Given the description of an element on the screen output the (x, y) to click on. 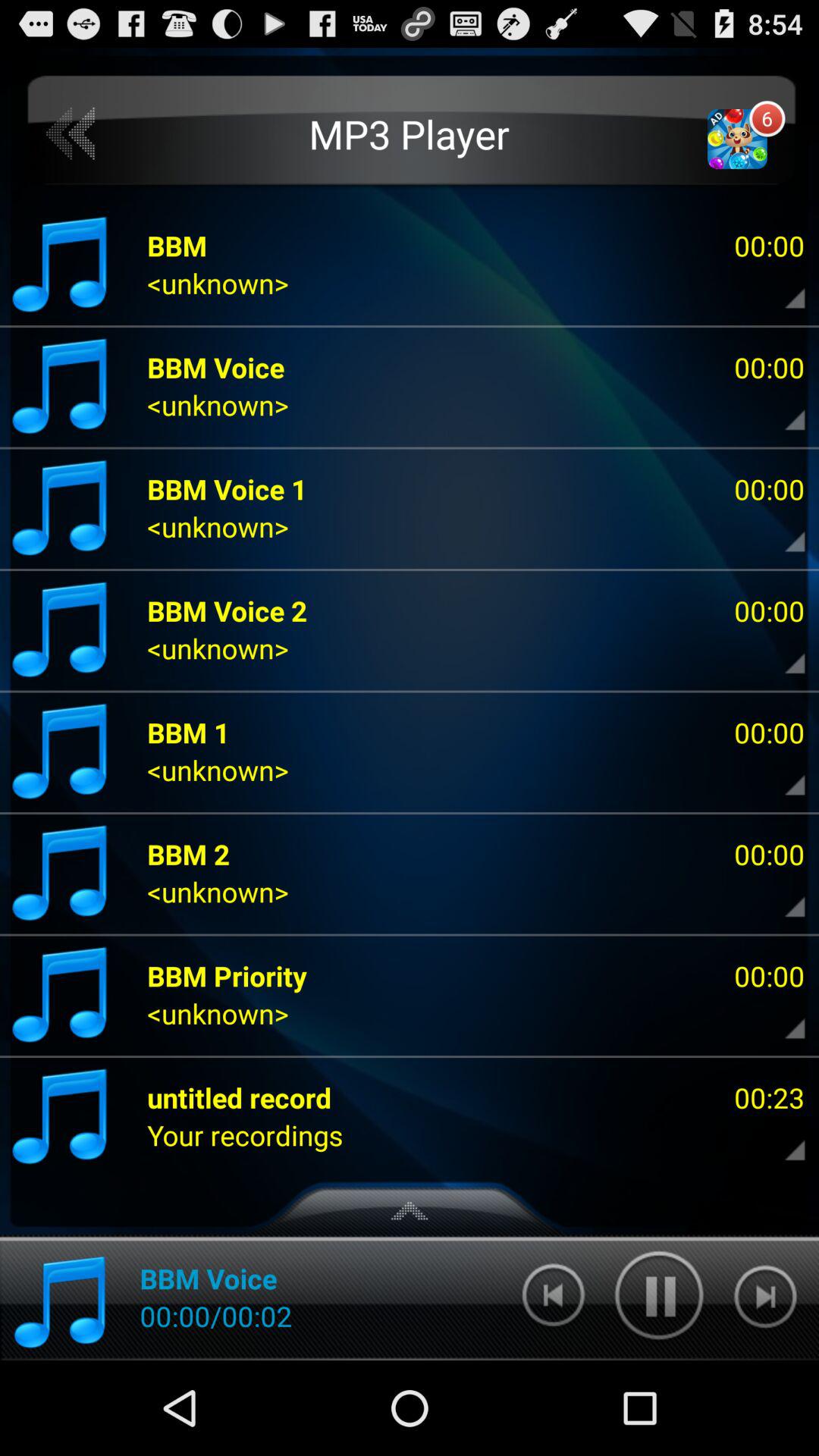
more option (782, 1017)
